Given the description of an element on the screen output the (x, y) to click on. 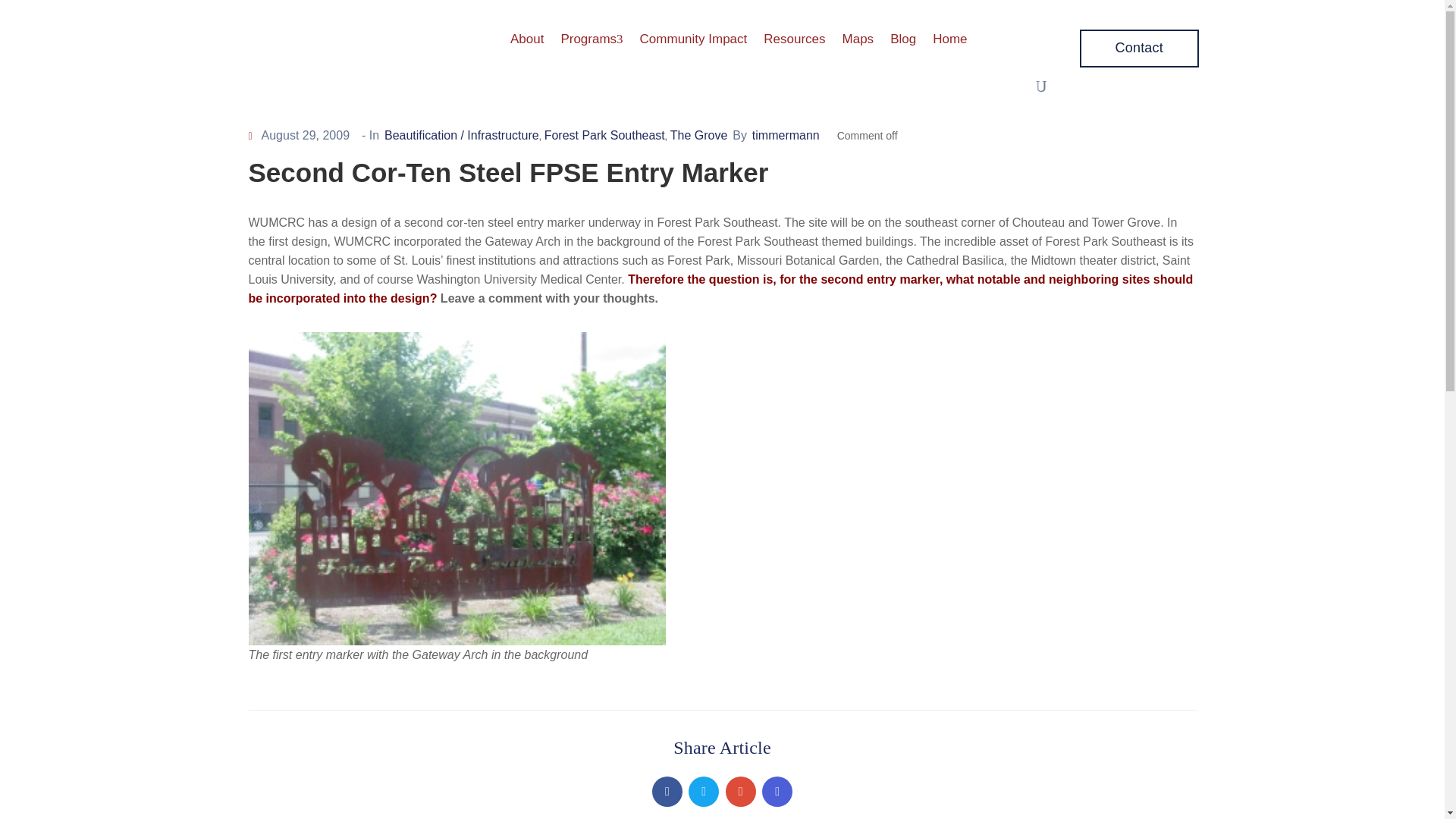
Blog (903, 39)
Linkedin (776, 791)
Home (949, 39)
Pinterest (740, 791)
Facebook (667, 791)
timmermann (785, 134)
About (526, 39)
Programs (590, 39)
Search (1059, 409)
Community Impact (693, 39)
The Grove (698, 134)
Contact (1139, 47)
Maps (858, 39)
Resources (793, 39)
FPSE Sign at Tower Grove and Vandeventer (456, 488)
